Given the description of an element on the screen output the (x, y) to click on. 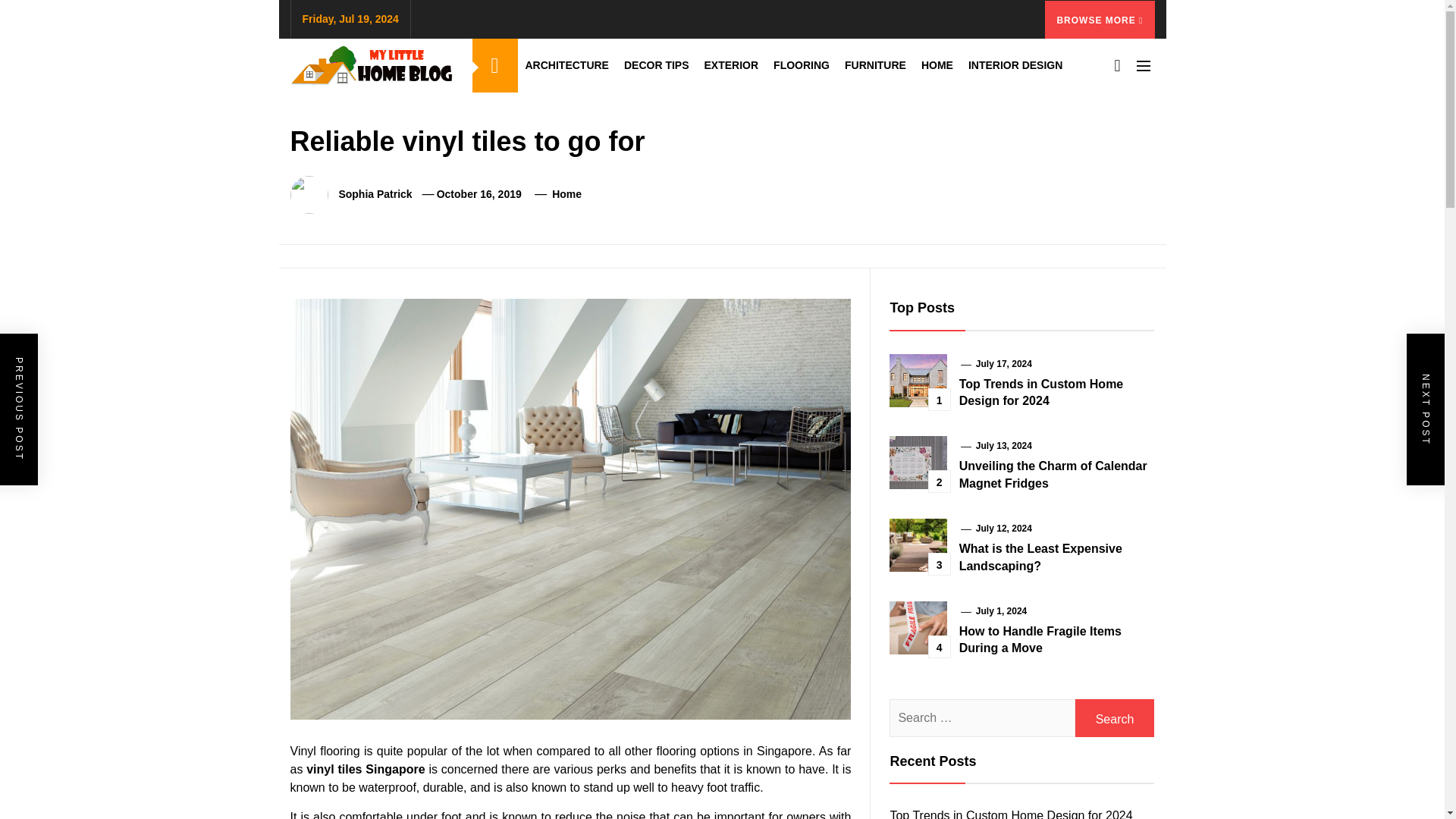
Search (1114, 718)
FLOORING (801, 65)
DECOR TIPS (656, 65)
INTERIOR DESIGN (1015, 65)
Sophia Patrick (374, 193)
EXTERIOR (732, 65)
BROWSE MORE (1099, 18)
vinyl tiles Singapore (365, 768)
ARCHITECTURE (565, 65)
October 16, 2019 (478, 193)
FURNITURE (875, 65)
Search (1114, 718)
Home (565, 193)
